Given the description of an element on the screen output the (x, y) to click on. 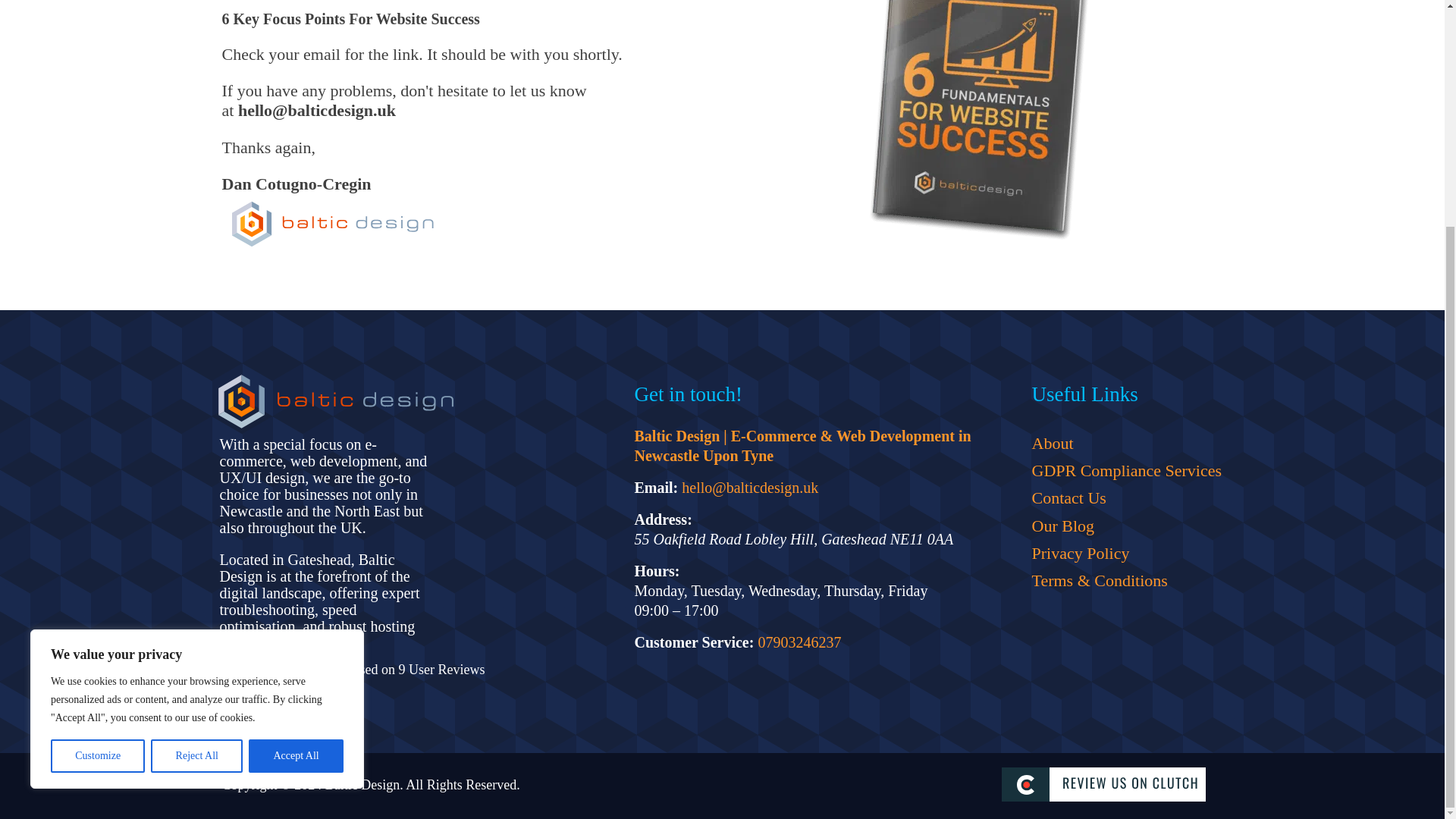
Reject All (197, 452)
07903246237 (799, 641)
GDPR Compliance Services (1125, 470)
Privacy Policy (1125, 553)
Our Blog (1125, 525)
Contact Us (1125, 497)
Accept All (295, 452)
Baltic Design Clutch Review Widget 7 (1108, 785)
About (1125, 442)
Customize (97, 452)
